Given the description of an element on the screen output the (x, y) to click on. 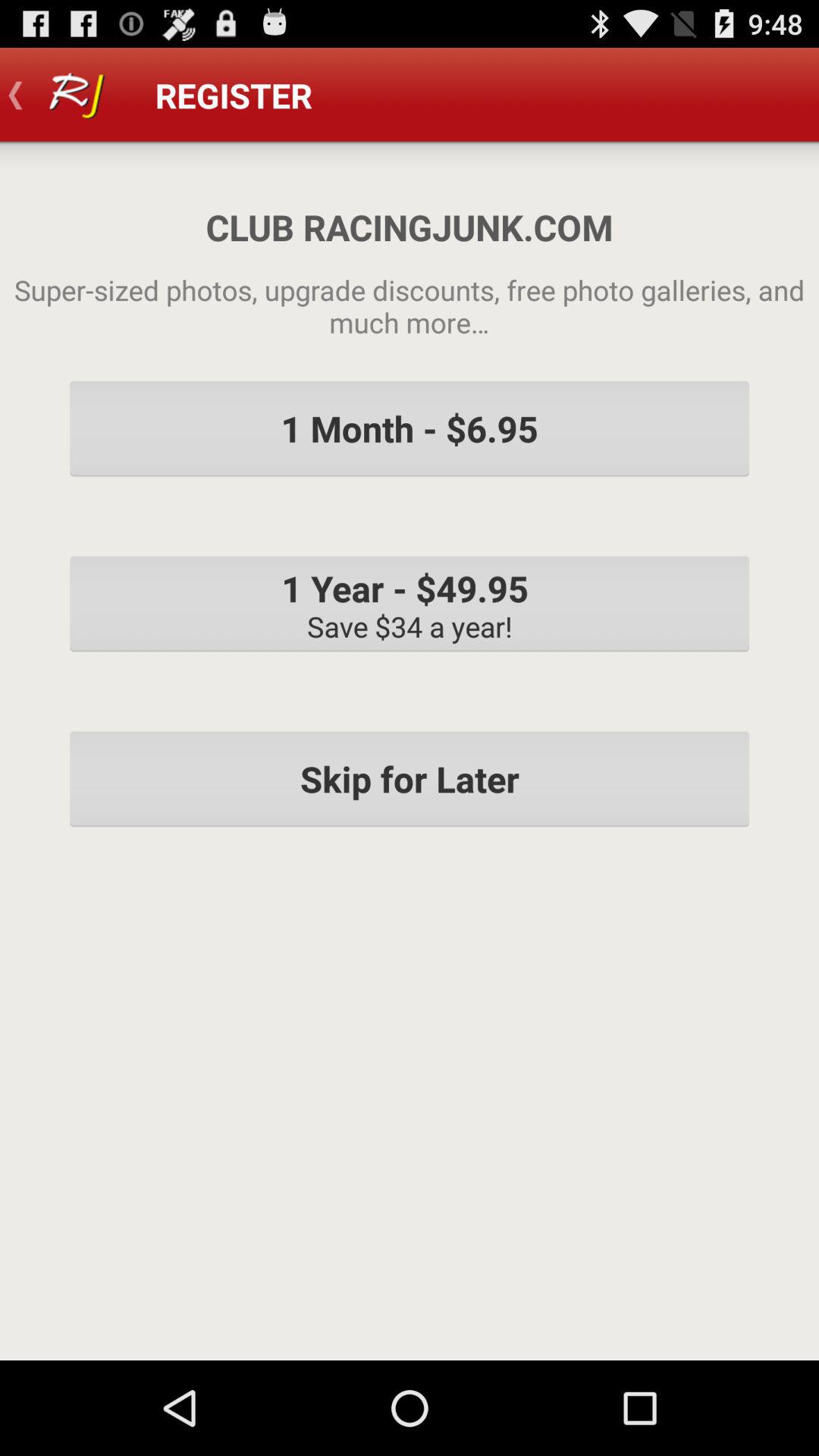
select app below super sized photos (409, 428)
